Given the description of an element on the screen output the (x, y) to click on. 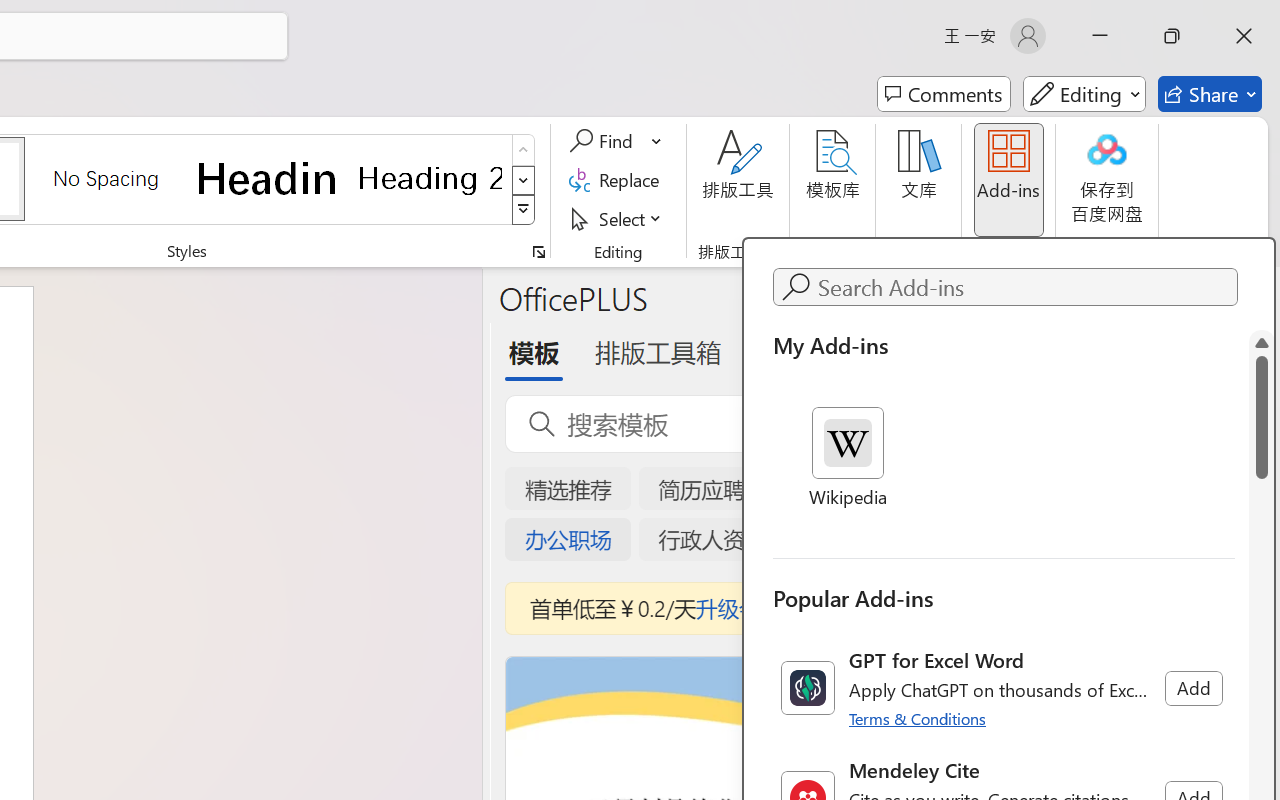
Find (616, 141)
Row Down (523, 180)
GPT for Excel Word (1004, 688)
Share (1210, 94)
Add (1193, 688)
Restore Down (1172, 36)
Heading 1 (267, 178)
Wikipedia (847, 459)
Heading 2 (429, 178)
